Given the description of an element on the screen output the (x, y) to click on. 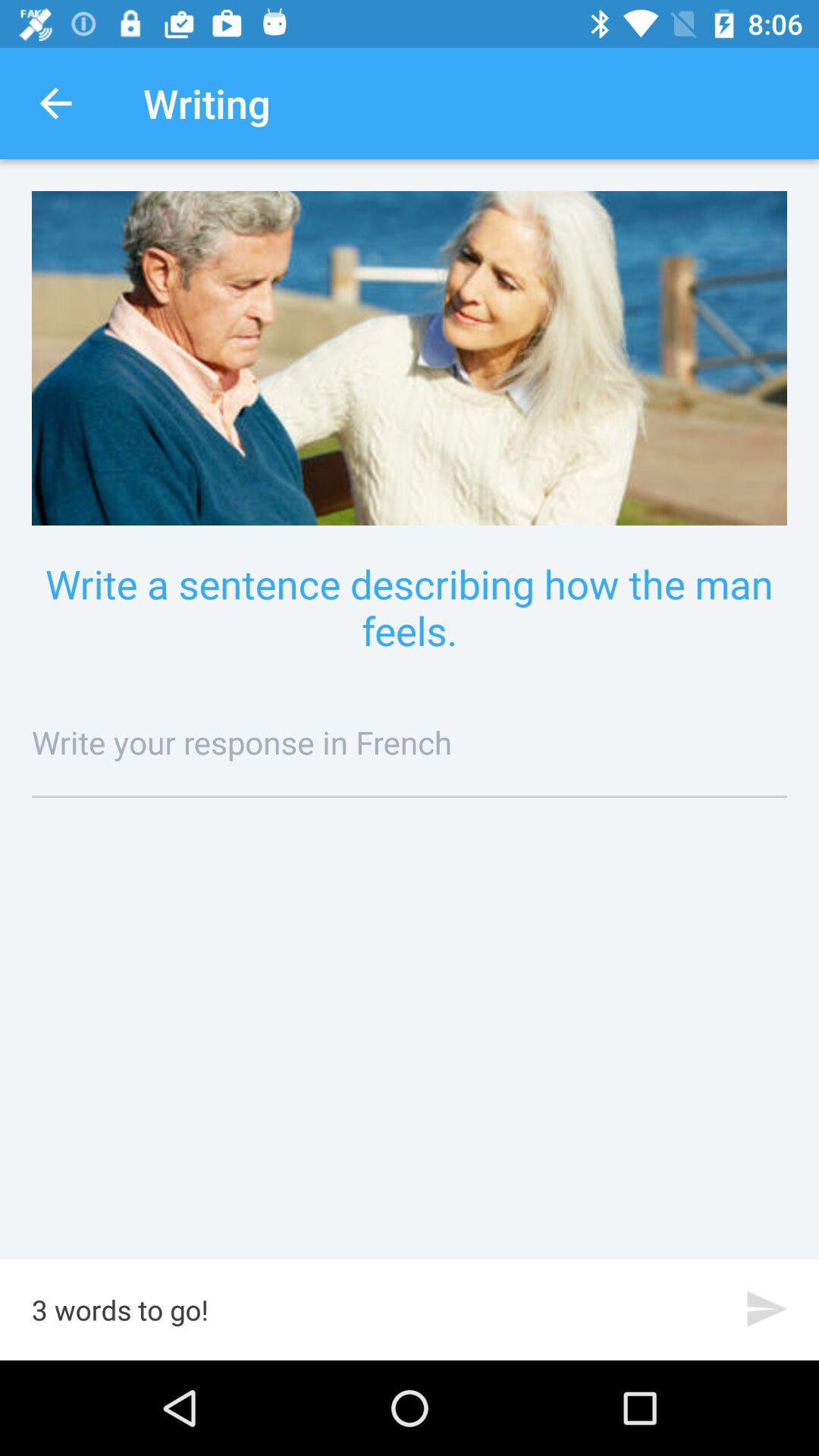
tap the icon to the left of writing app (55, 103)
